Given the description of an element on the screen output the (x, y) to click on. 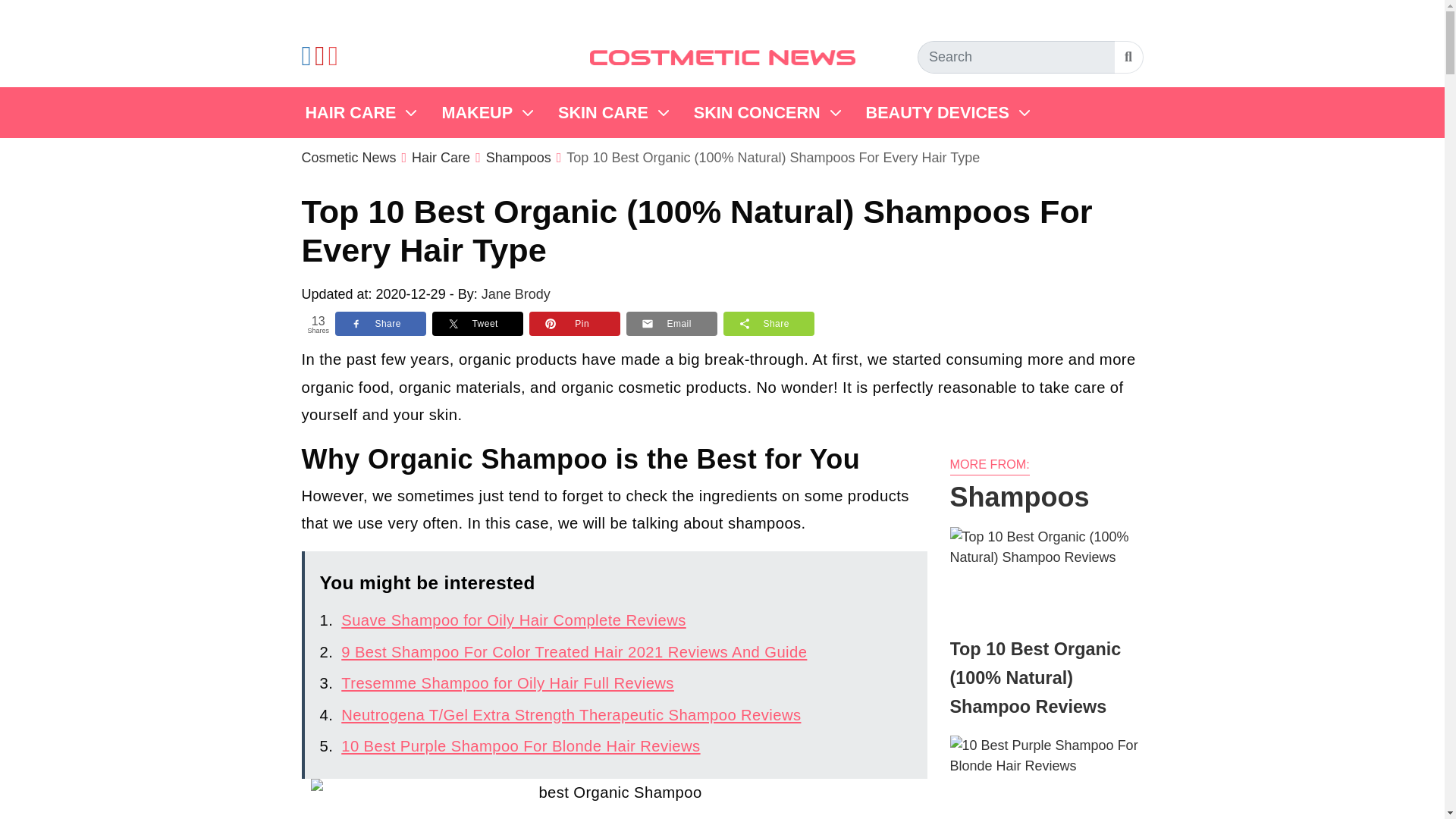
SKIN CARE (610, 111)
9 Best Shampoo For Color Treated Hair 2021 Reviews And Guide (573, 651)
Go to Cosmetic News. (348, 157)
Go to the Hair Care Category archives. (441, 157)
Suave Shampoo for Oily Hair Complete Reviews (512, 619)
SKIN CONCERN (764, 111)
10 Best Purple Shampoo For Blonde Hair Reviews (520, 745)
MAKEUP (484, 111)
HAIR CARE (357, 111)
BEAUTY DEVICES (944, 111)
Go to the Shampoos Category archives. (518, 157)
Tresemme Shampoo for Oily Hair Full Reviews (507, 682)
